Given the description of an element on the screen output the (x, y) to click on. 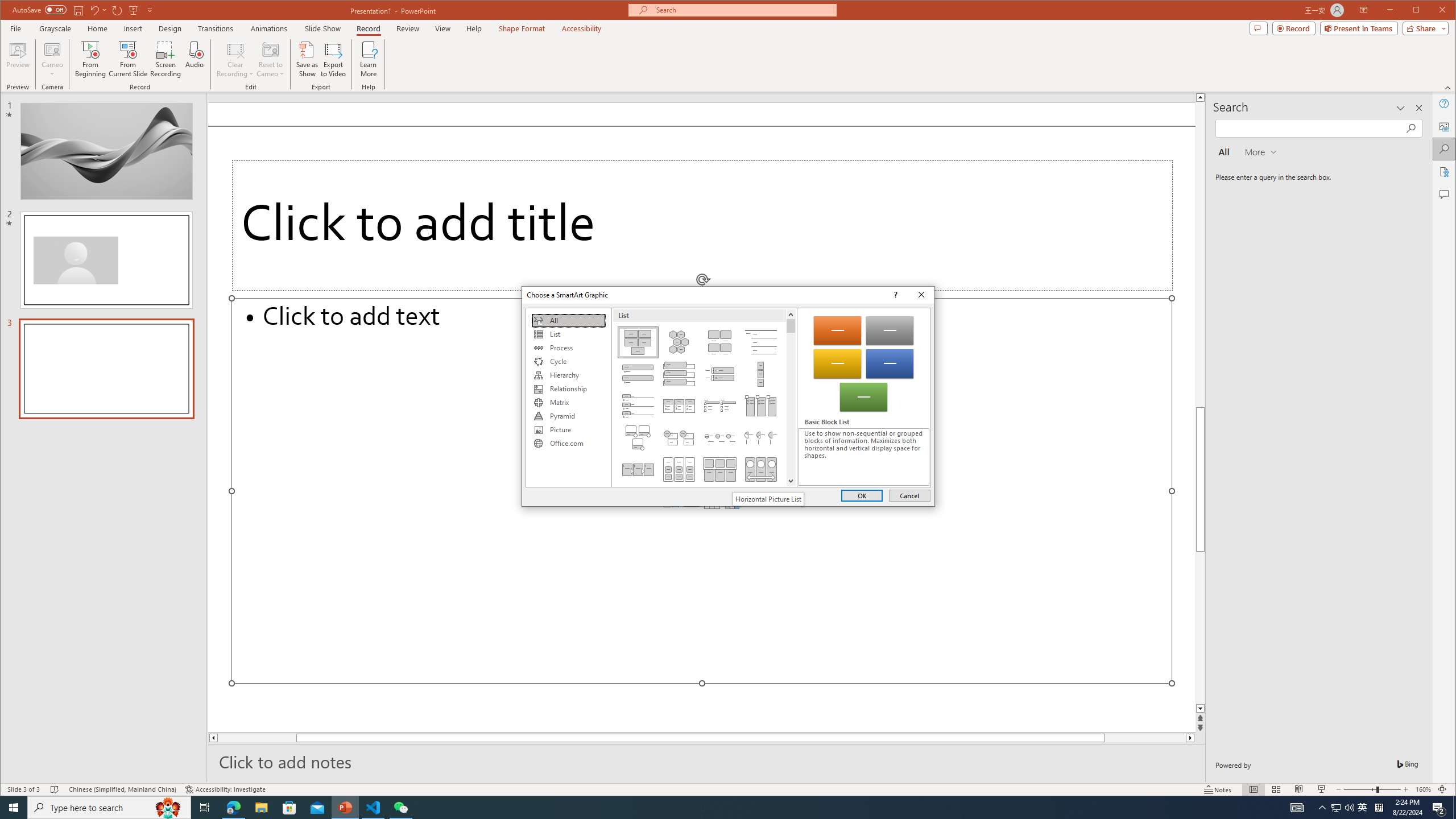
Vertical Bracket List (719, 373)
Reset to Cameo (269, 59)
Varying Width List (761, 373)
Horizontal Bullet List (678, 405)
Context help (894, 294)
List (568, 334)
Stacked List (678, 437)
Grayscale (55, 28)
Horizontal Picture List (767, 499)
